Given the description of an element on the screen output the (x, y) to click on. 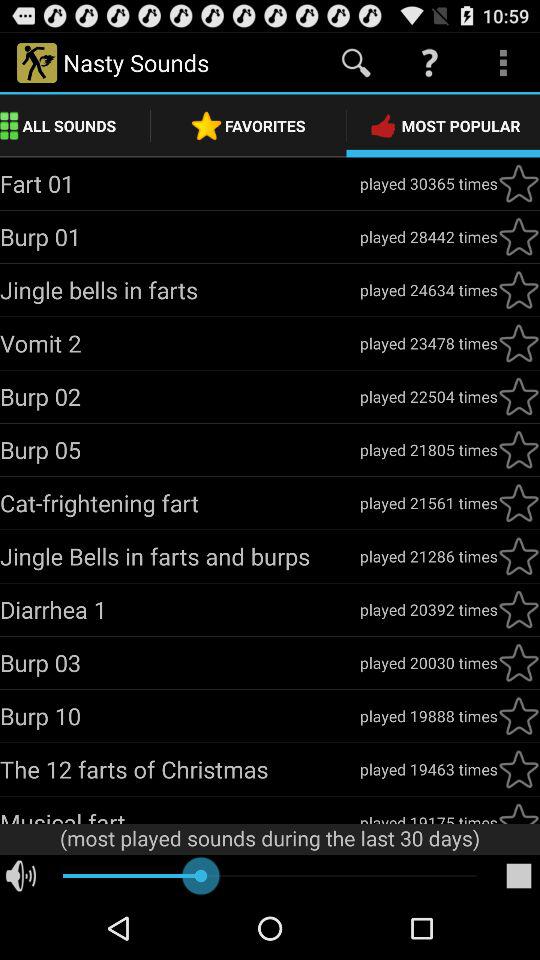
favourite click (519, 556)
